Given the description of an element on the screen output the (x, y) to click on. 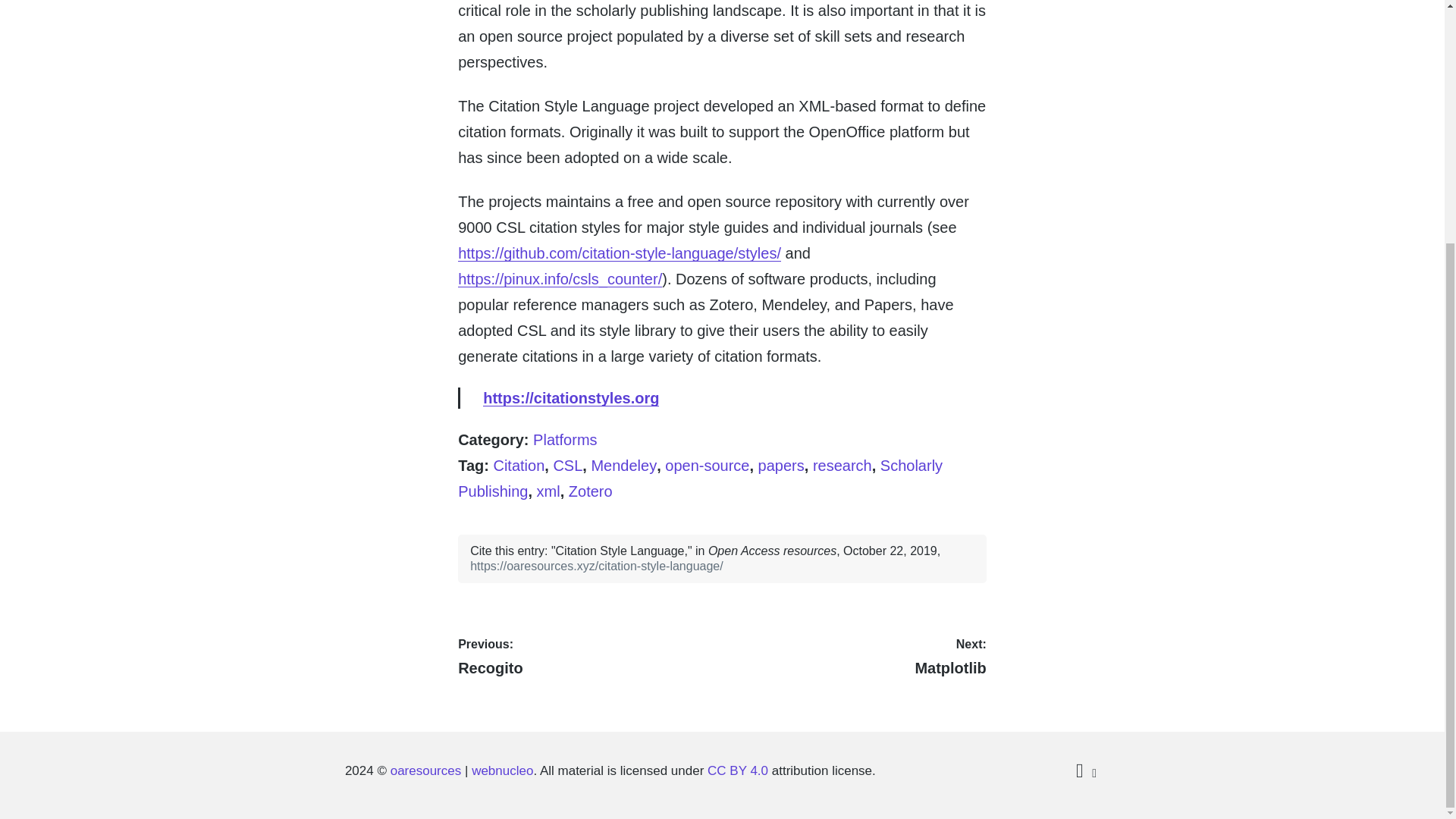
xml (548, 491)
OA RESOURCES (425, 771)
oaresources (587, 657)
CSL (425, 771)
webnucleo (855, 657)
Scholarly Publishing (567, 465)
Zotero (501, 771)
Mendeley (700, 478)
webnucleo (590, 491)
Citation (623, 465)
Platforms (501, 771)
research (518, 465)
open-source (564, 439)
